Given the description of an element on the screen output the (x, y) to click on. 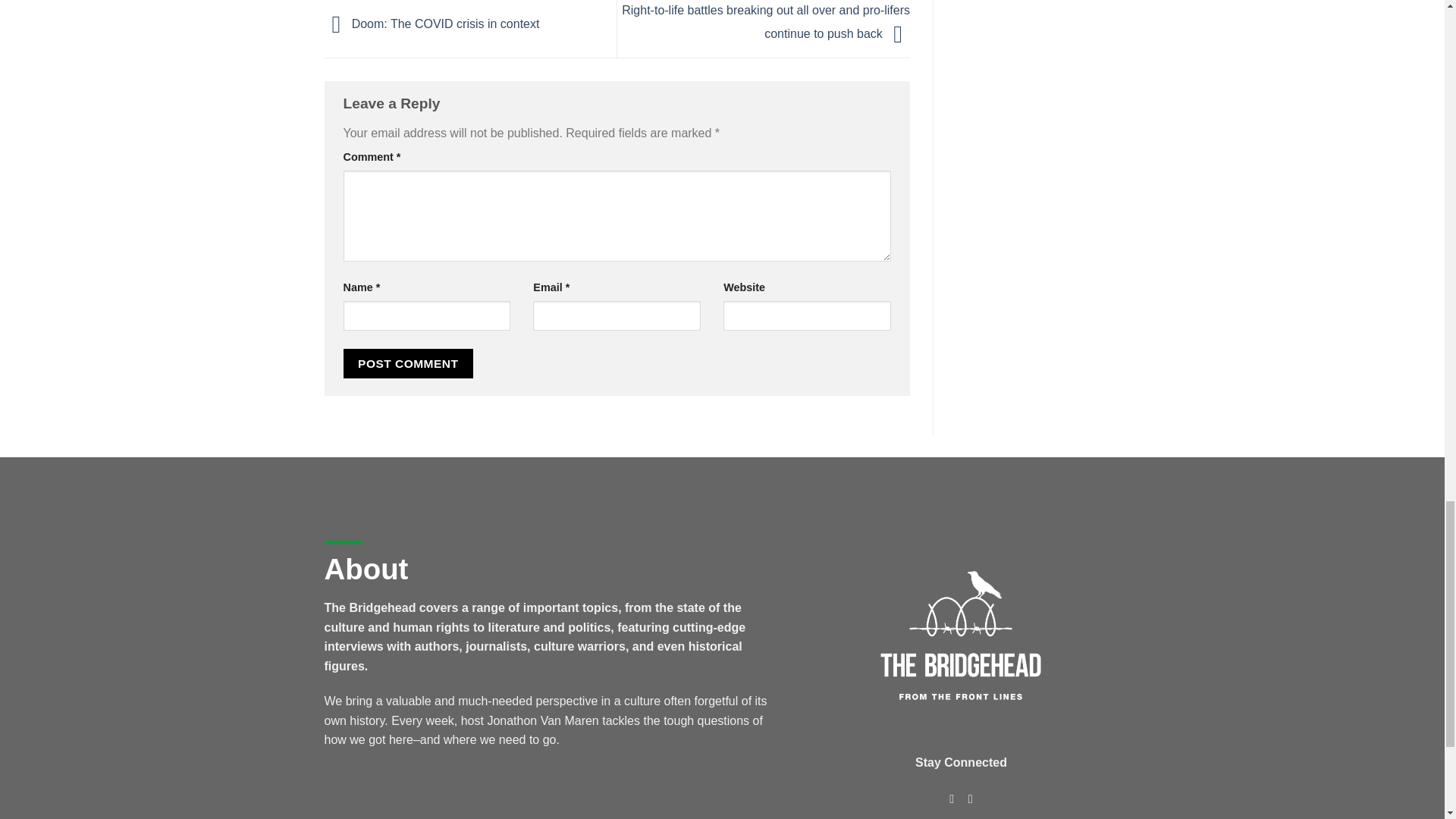
Post Comment (407, 363)
